Given the description of an element on the screen output the (x, y) to click on. 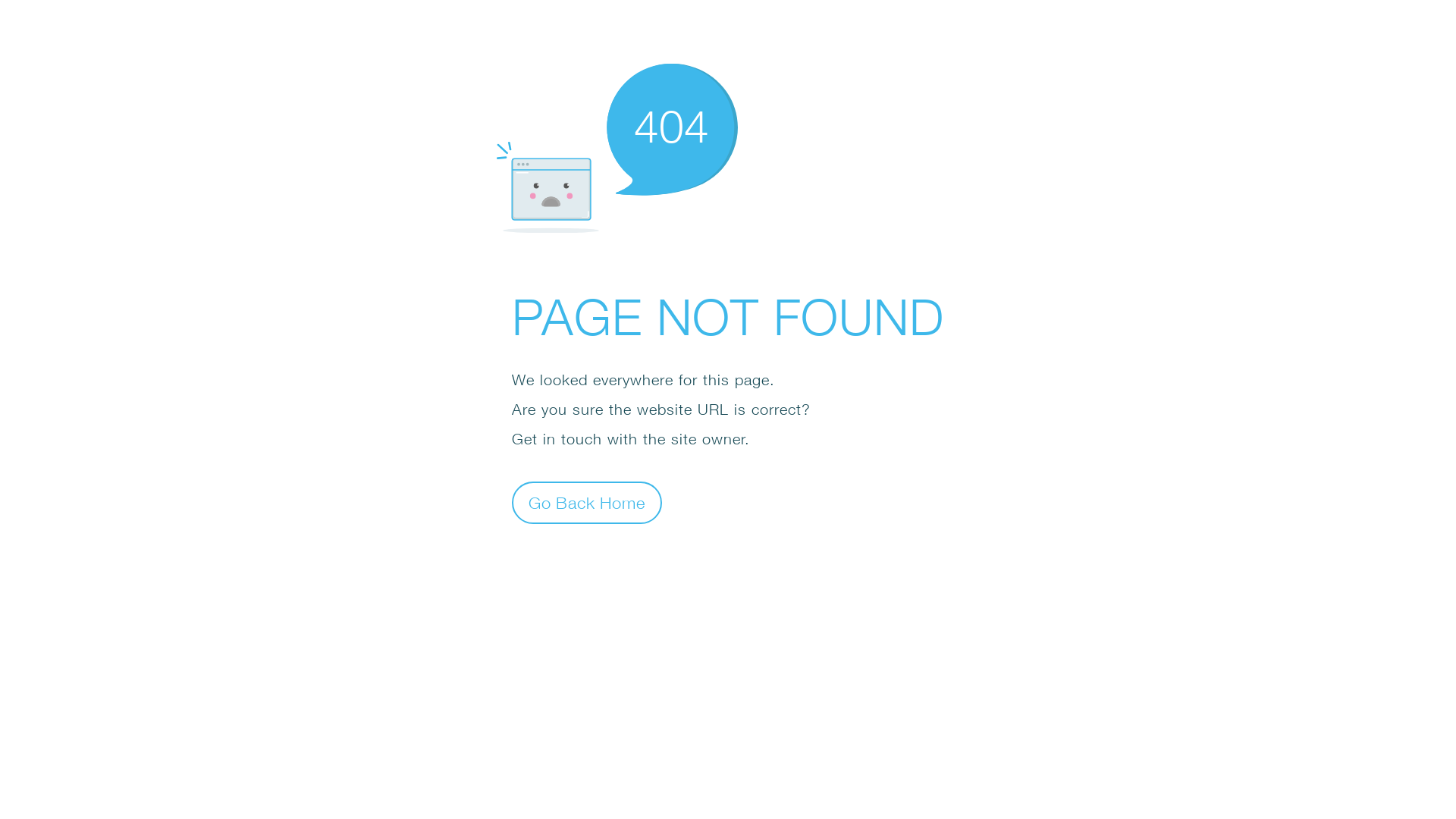
Go Back Home Element type: text (586, 502)
